Given the description of an element on the screen output the (x, y) to click on. 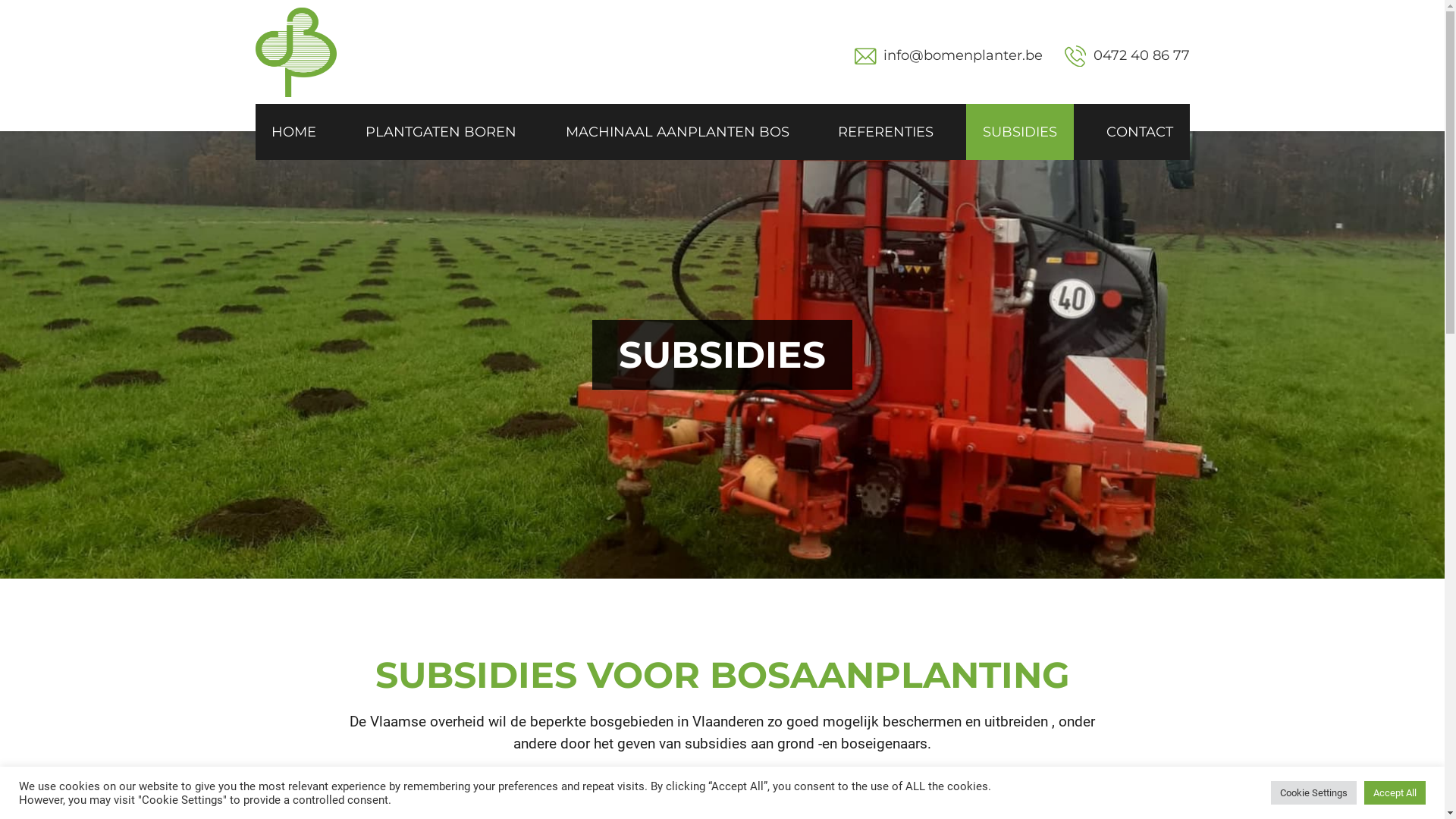
Accept All Element type: text (1394, 792)
REFERENTIES Element type: text (885, 131)
SUBSIDIES Element type: text (1019, 131)
info@bomenplanter.be Element type: text (962, 55)
HOME Element type: text (293, 131)
CONTACT Element type: text (1139, 131)
0472 40 86 77 Element type: text (1126, 56)
PLANTGATEN BOREN Element type: text (440, 131)
MACHINAAL AANPLANTEN BOS Element type: text (677, 131)
Cookie Settings Element type: text (1313, 792)
